Given the description of an element on the screen output the (x, y) to click on. 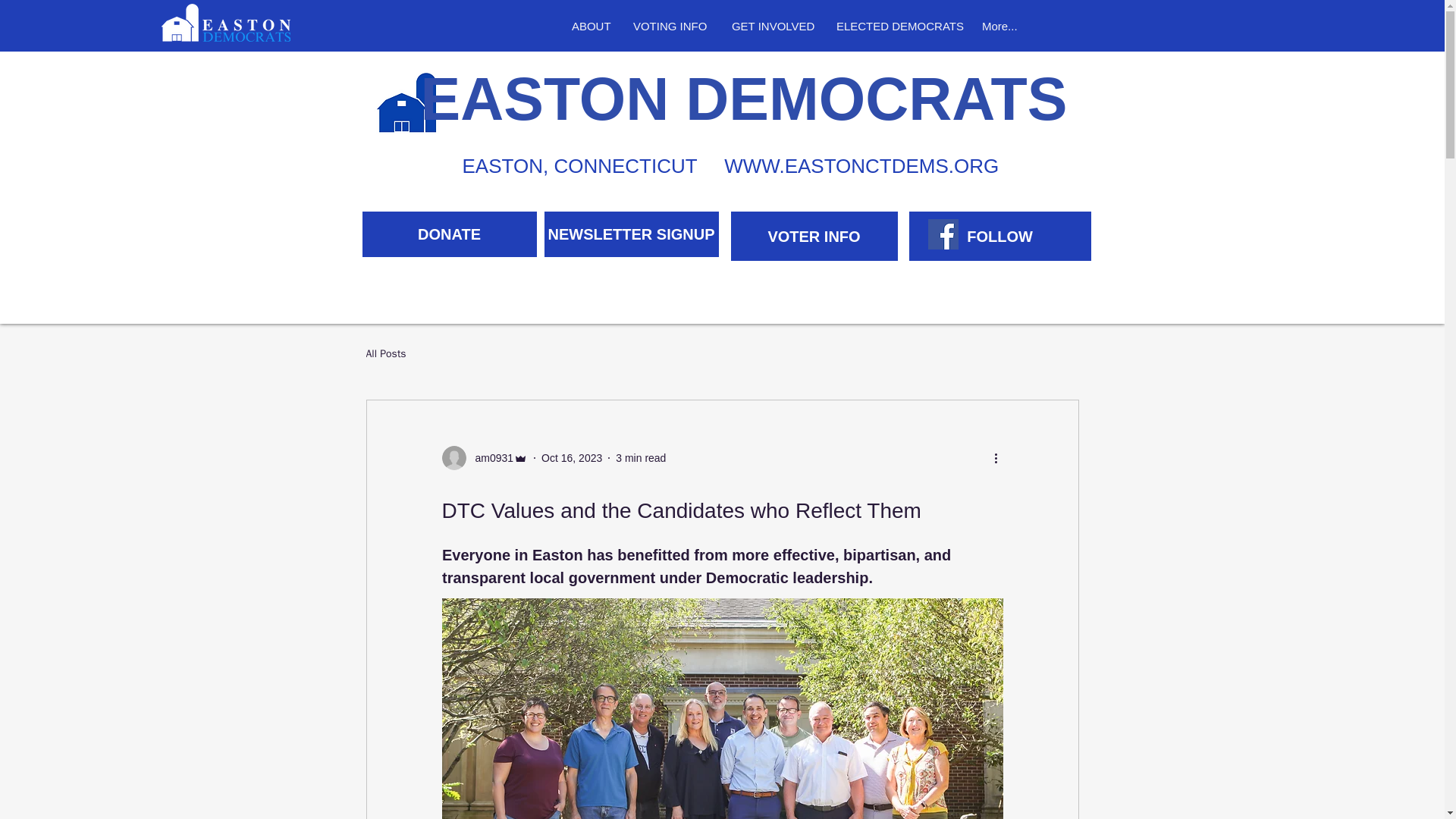
VOTING INFO (670, 26)
DONATE (449, 234)
easton-dems-horizantal-v2.png (225, 22)
FOLLOW (999, 236)
ABOUT (590, 26)
VOTER INFO (814, 236)
Oct 16, 2023 (571, 458)
WWW.EASTONCTDEMS.ORG (860, 165)
All Posts (385, 354)
NEWSLETTER SIGNUP (631, 234)
am0931 (489, 458)
3 min read (640, 458)
ELECTED DEMOCRATS (898, 26)
GET INVOLVED (772, 26)
am0931 (484, 457)
